Given the description of an element on the screen output the (x, y) to click on. 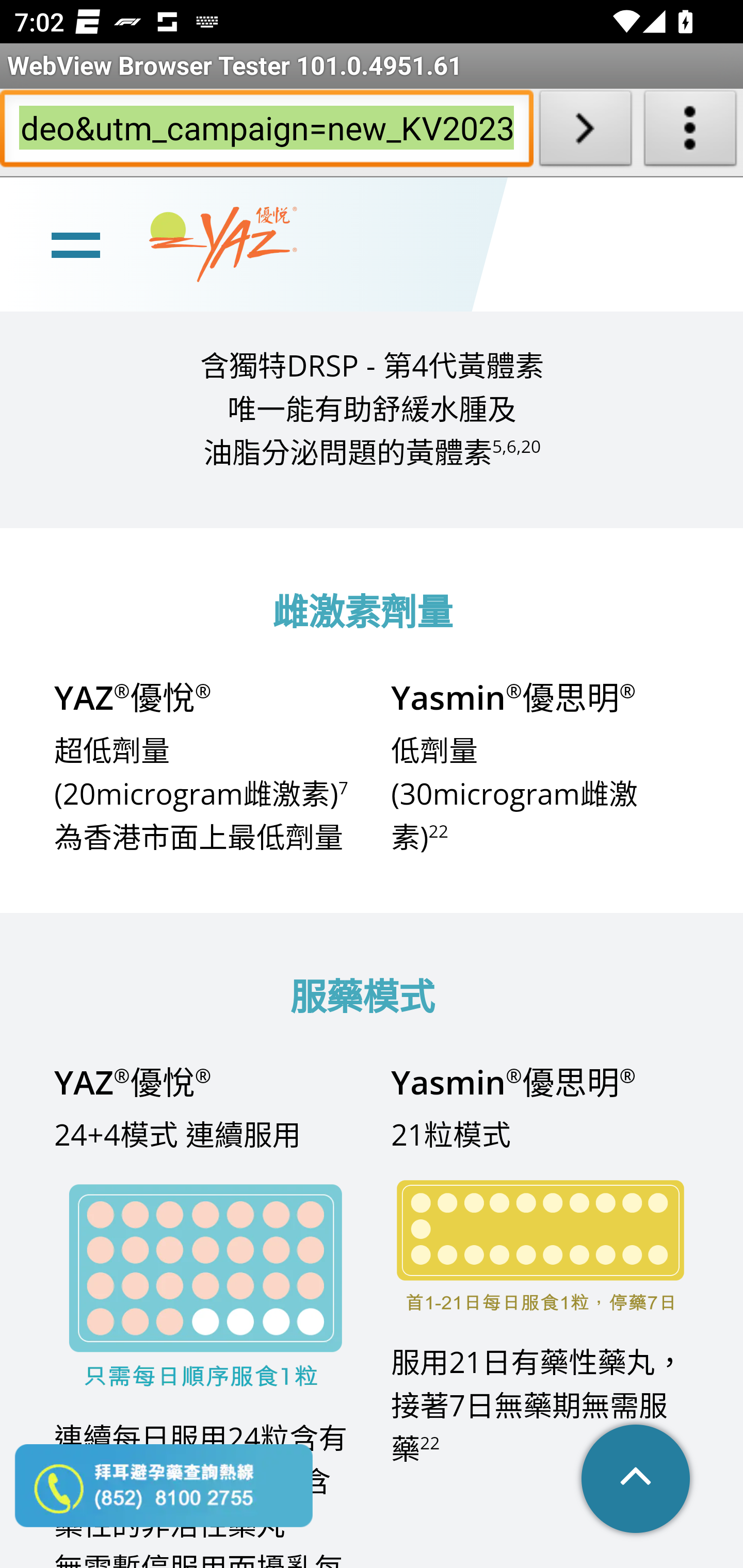
Load URL (585, 132)
About WebView (690, 132)
www.yaz (222, 244)
line Toggle burger menu (75, 242)
 (636, 1480)
